Given the description of an element on the screen output the (x, y) to click on. 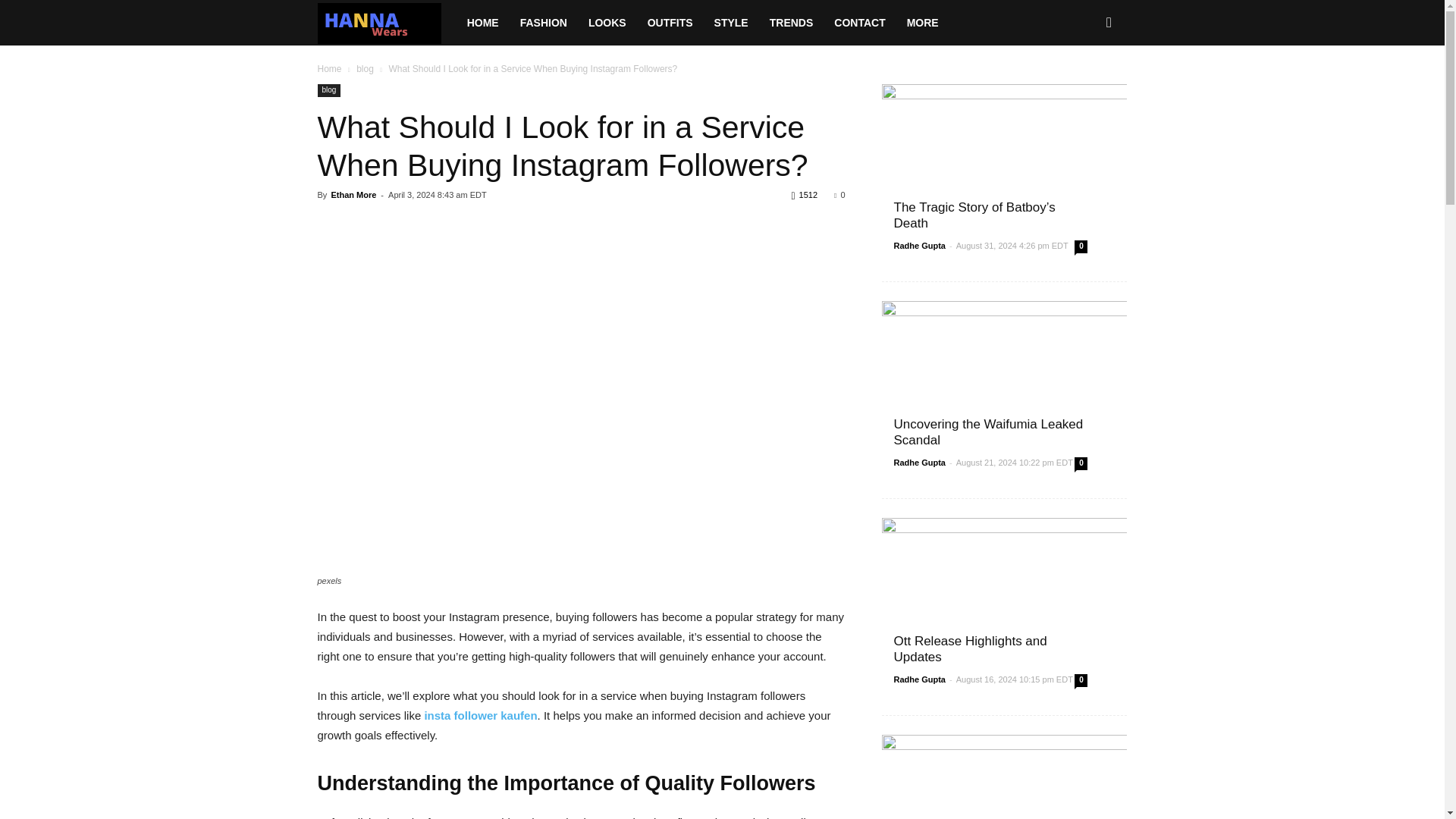
CONTACT (859, 22)
FASHION (543, 22)
STYLE (730, 22)
MORE (922, 22)
TRENDS (791, 22)
HOME (483, 22)
OUTFITS (670, 22)
View all posts in blog (365, 68)
Hanna Wears (386, 22)
